Given the description of an element on the screen output the (x, y) to click on. 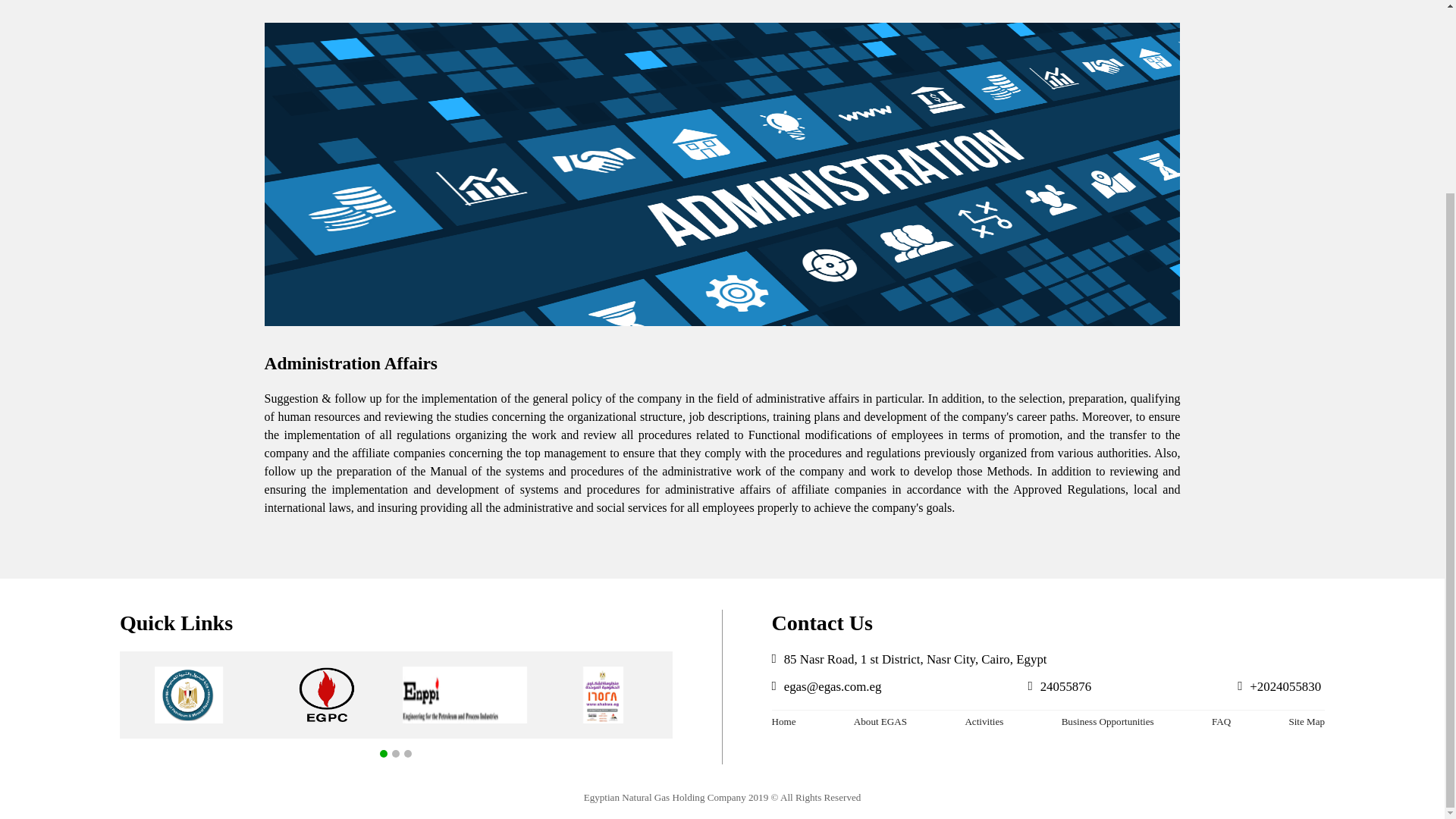
Egas phone (1284, 686)
Egypt gas (740, 694)
EGYPTIAN GENERAL PETROLEUM CORPORATION EGPC (326, 694)
Government Complaints System (602, 694)
enppi (465, 694)
Ministry of Petroleum and Mineral Resources (188, 694)
Egas e-mail (833, 686)
